Given the description of an element on the screen output the (x, y) to click on. 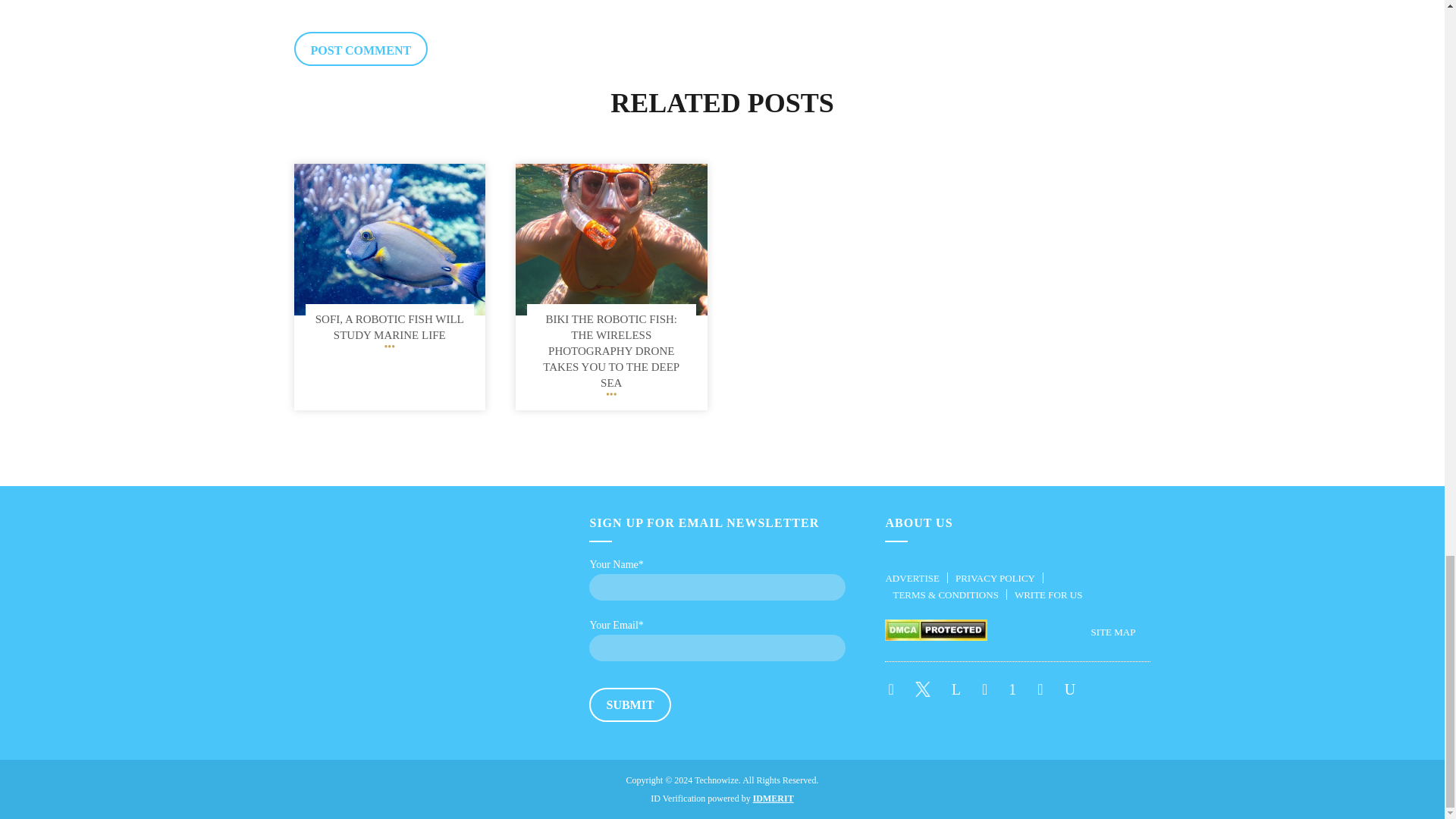
Submit (629, 704)
Post Comment (361, 48)
